Given the description of an element on the screen output the (x, y) to click on. 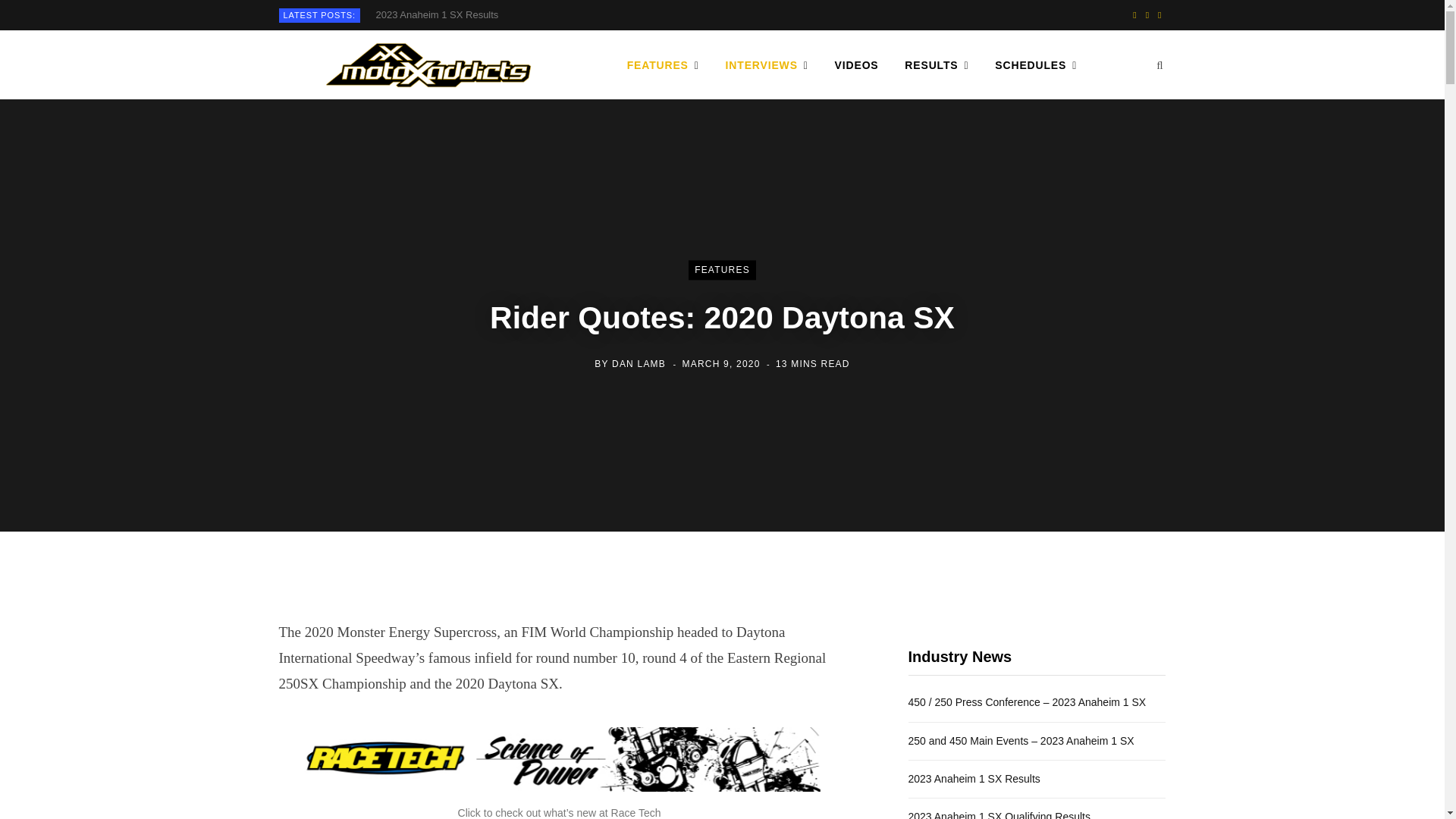
VIDEOS (856, 65)
RESULTS (936, 65)
SCHEDULES (1035, 65)
FEATURES (662, 65)
MotoXAddicts (428, 65)
2023 Anaheim 1 SX Results (440, 15)
Posts by Dan Lamb (638, 363)
2023 Anaheim 1 SX Results (440, 15)
INTERVIEWS (766, 65)
